Given the description of an element on the screen output the (x, y) to click on. 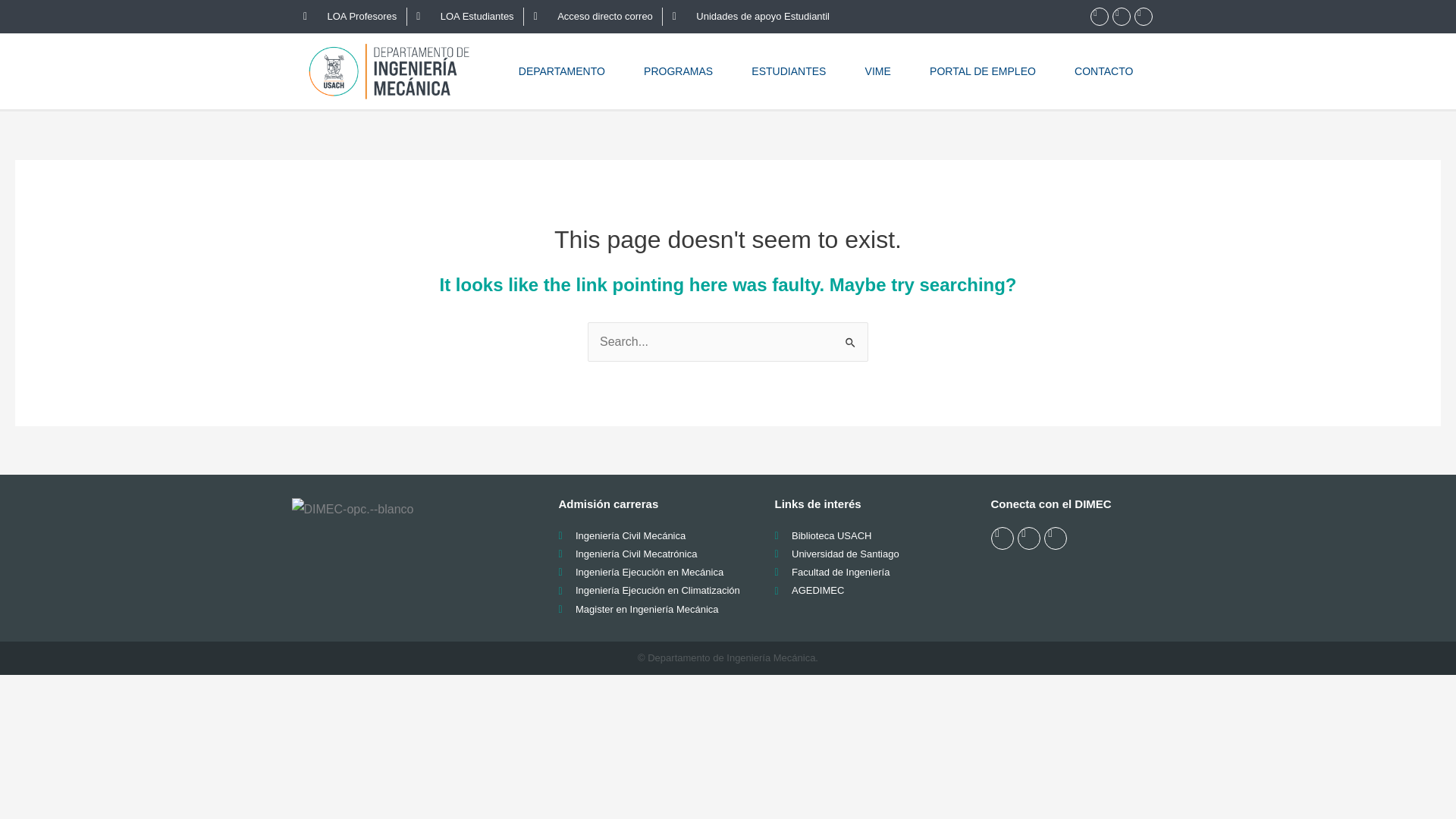
Facebook-f (1143, 16)
LOA Profesores (349, 16)
DEPARTAMENTO (561, 71)
PROGRAMAS (678, 71)
Unidades de apoyo Estudiantil (750, 16)
Instagram (1121, 16)
VIME (877, 71)
Linkedin-in (1099, 16)
ESTUDIANTES (788, 71)
Acceso directo correo (593, 16)
